Given the description of an element on the screen output the (x, y) to click on. 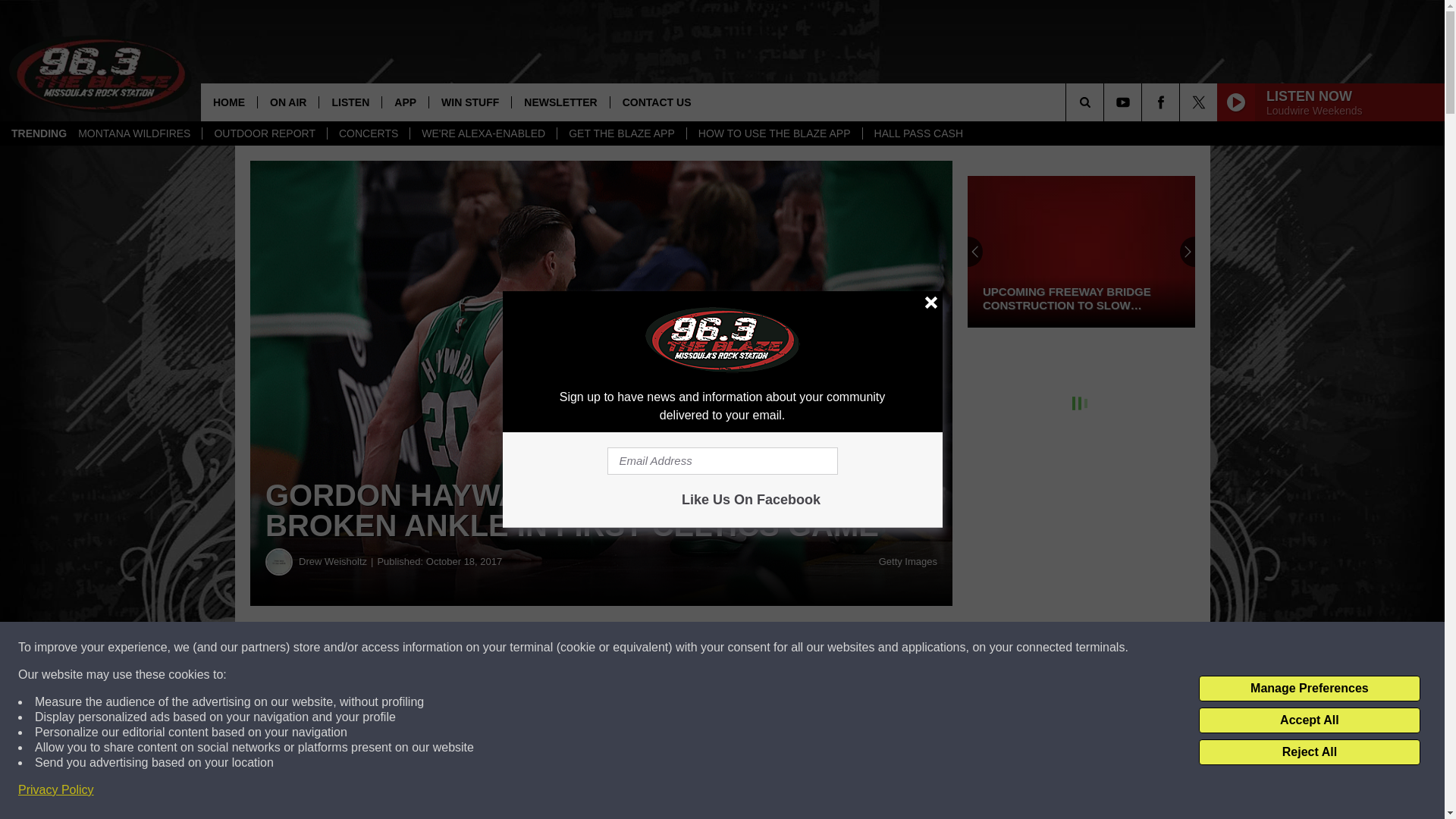
HOME (228, 102)
MONTANA WILDFIRES (134, 133)
Email Address (722, 461)
HOW TO USE THE BLAZE APP (773, 133)
ON AIR (287, 102)
HALL PASS CASH (918, 133)
CONTACT US (656, 102)
WE'RE ALEXA-ENABLED (482, 133)
Share on Facebook (460, 647)
WIN STUFF (469, 102)
LISTEN (349, 102)
OUTDOOR REPORT (264, 133)
Reject All (1309, 751)
APP (404, 102)
GET THE BLAZE APP (620, 133)
